Given the description of an element on the screen output the (x, y) to click on. 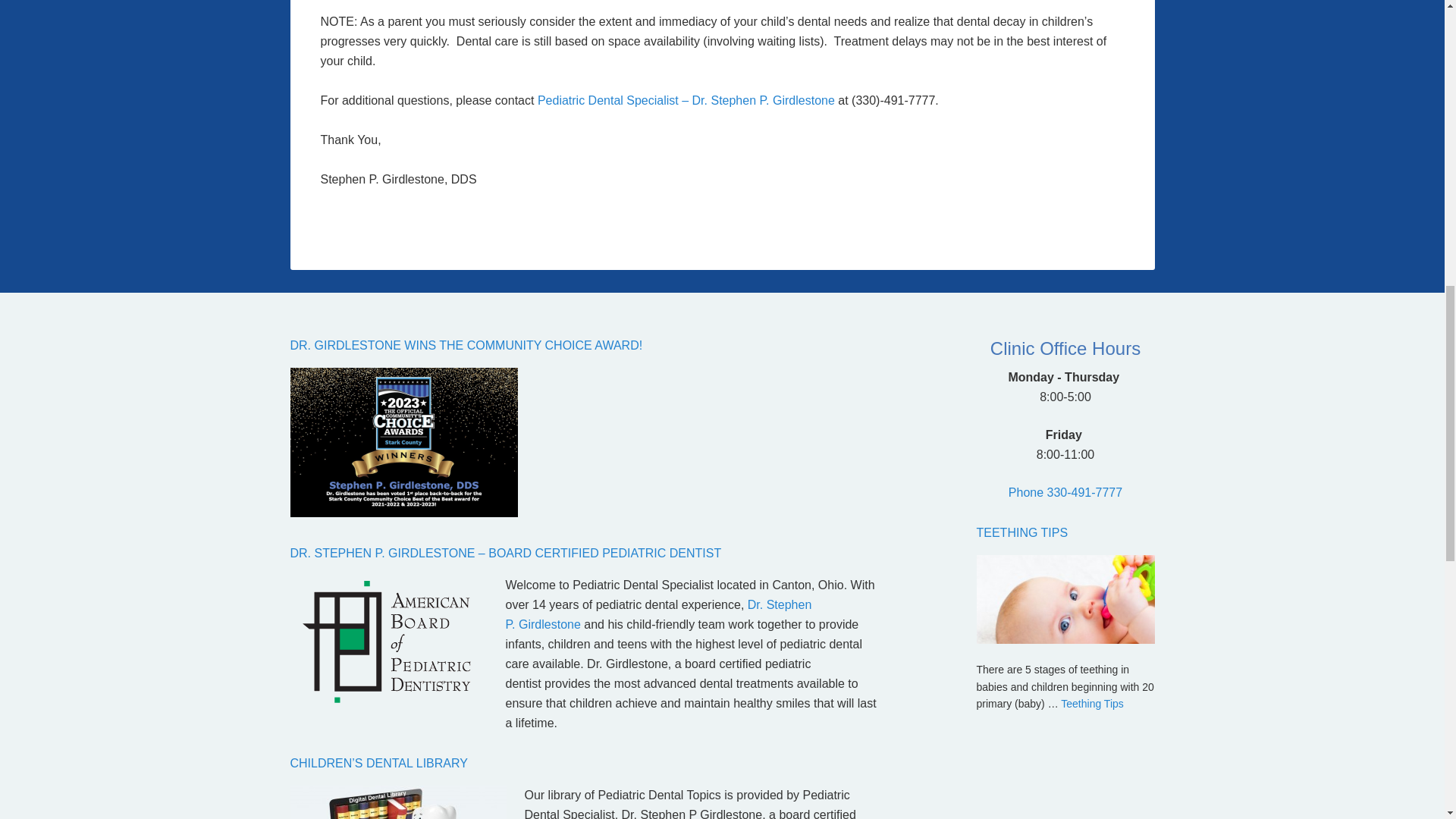
Dr. Stephen P. Girdlestone (657, 614)
